Given the description of an element on the screen output the (x, y) to click on. 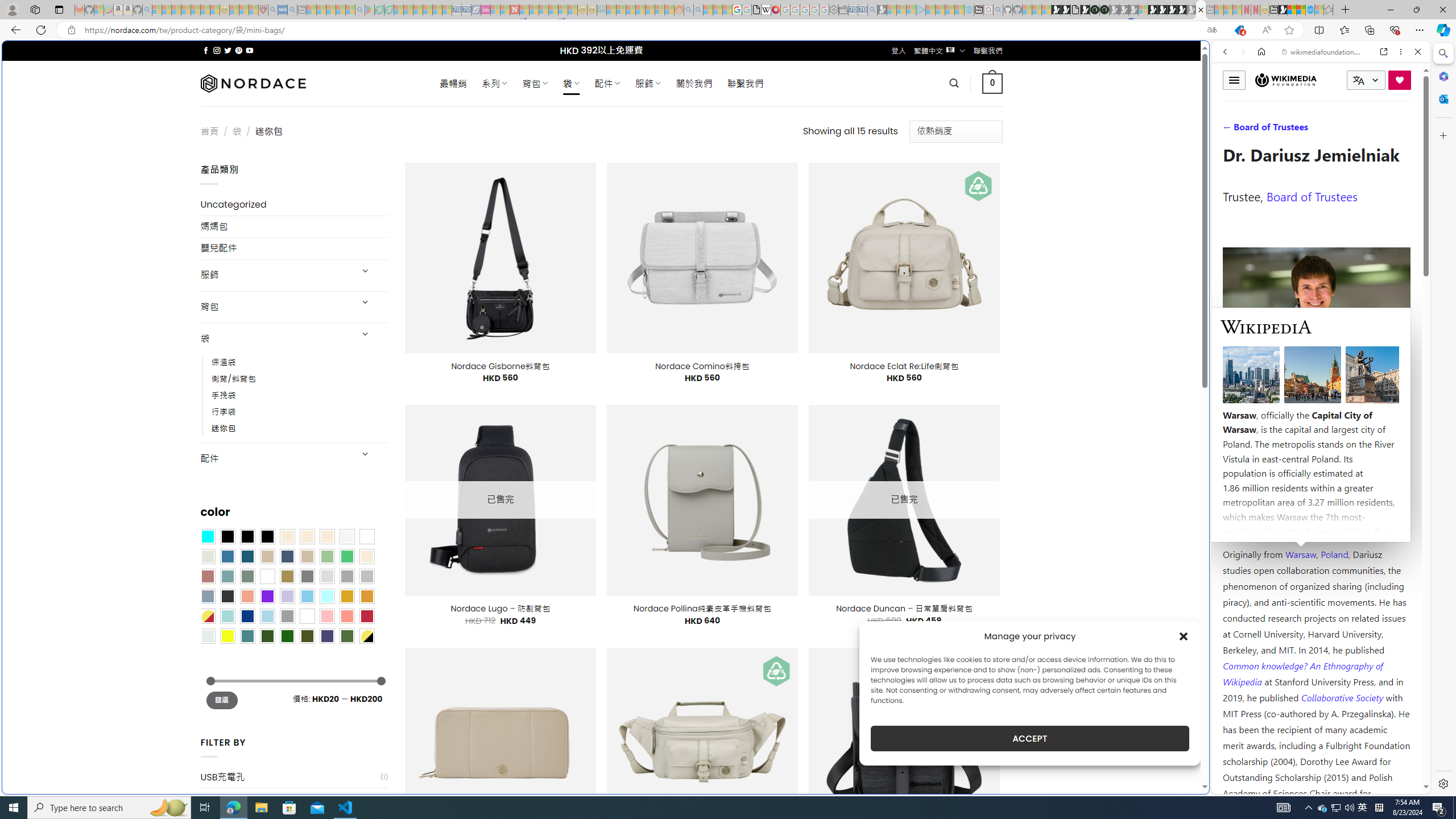
Global web icon (1232, 786)
Tabs you've opened (885, 151)
Board of Trustees (1311, 195)
